Given the description of an element on the screen output the (x, y) to click on. 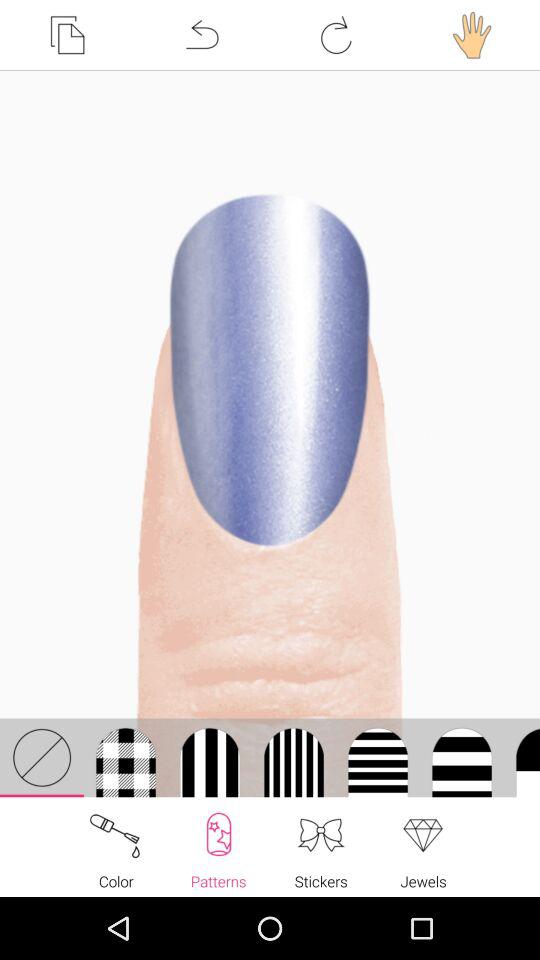
open the item at the top left corner (67, 35)
